Given the description of an element on the screen output the (x, y) to click on. 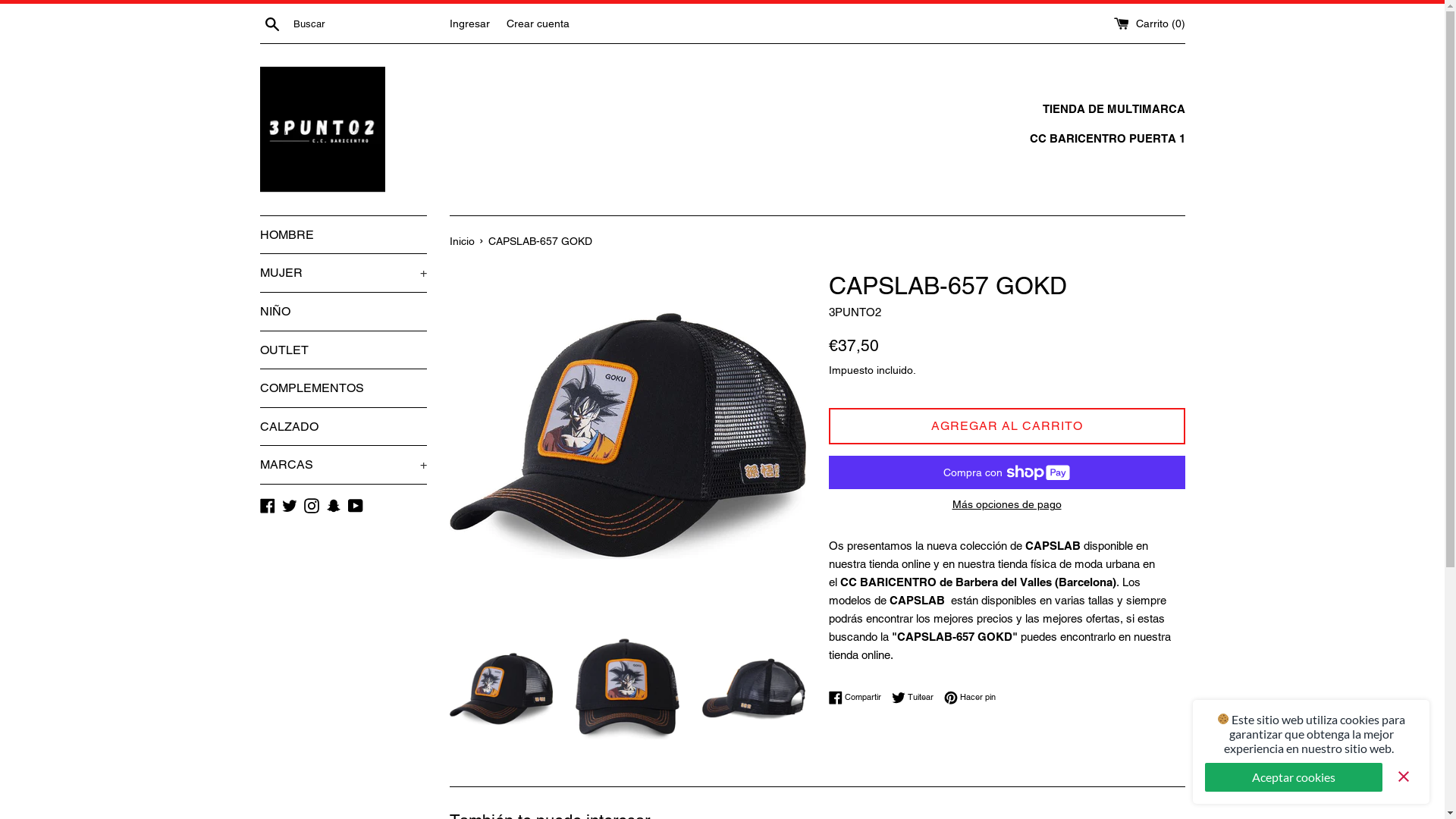
Crear cuenta Element type: text (537, 22)
Inicio Element type: text (462, 241)
MARCAS
+ Element type: text (342, 464)
Carrito (0) Element type: text (1148, 22)
YouTube Element type: text (354, 504)
Tuitear
Tuitear en Twitter Element type: text (916, 697)
Twitter Element type: text (289, 504)
Compartir
Compartir en Facebook Element type: text (858, 697)
HOMBRE Element type: text (342, 235)
Facebook Element type: text (266, 504)
OUTLET Element type: text (342, 350)
Buscar Element type: text (271, 23)
Snapchat Element type: text (333, 504)
AGREGAR AL CARRITO Element type: text (1006, 425)
COMPLEMENTOS Element type: text (342, 388)
Aceptar cookies Element type: text (1293, 776)
Instagram Element type: text (310, 504)
Hacer pin
Pinear en Pinterest Element type: text (968, 697)
Ingresar Element type: text (468, 22)
MUJER
+ Element type: text (342, 272)
CALZADO Element type: text (342, 426)
